Given the description of an element on the screen output the (x, y) to click on. 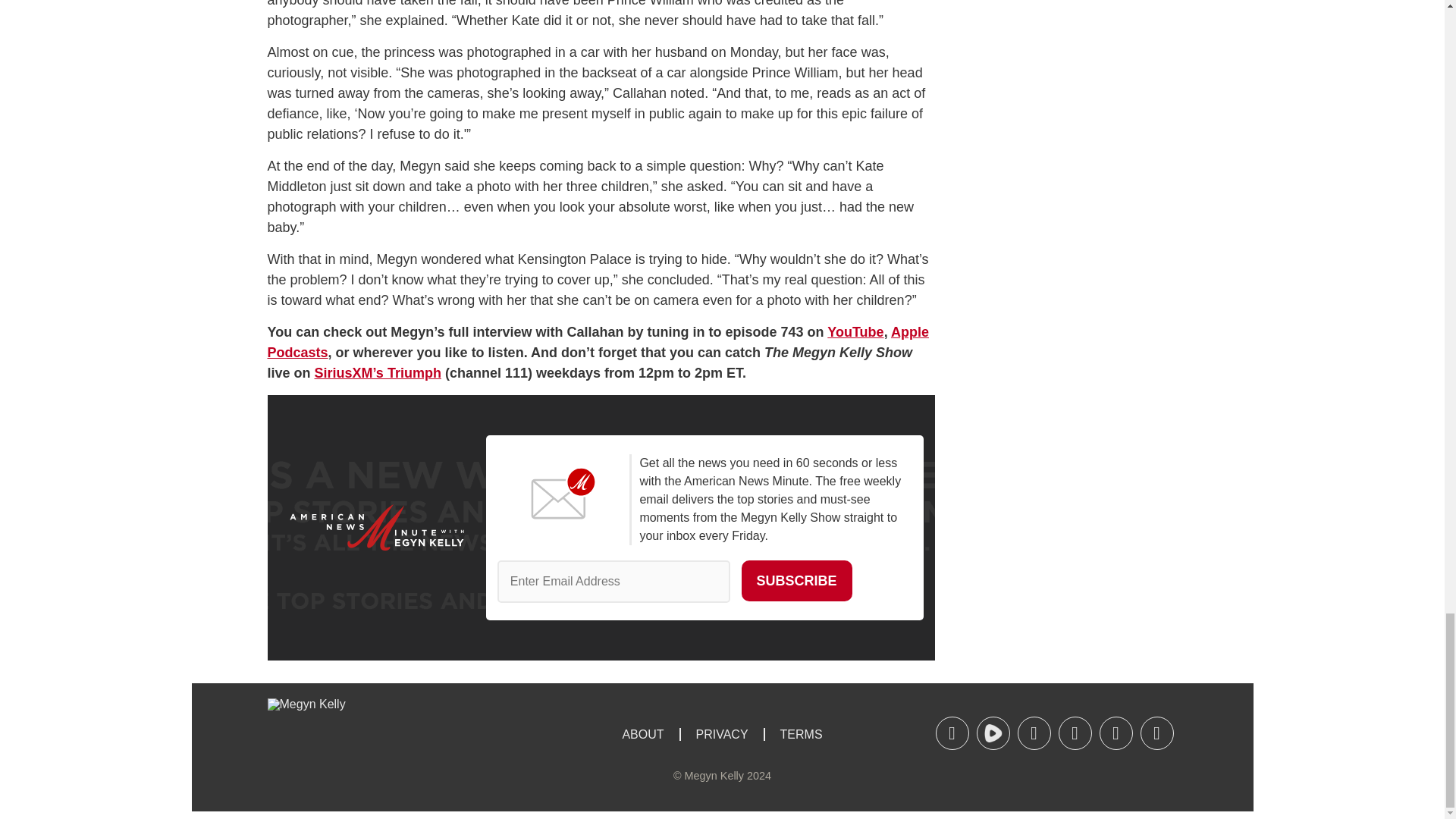
Terms of Service (800, 733)
Subscribe (796, 580)
Privacy Policy (720, 733)
